Given the description of an element on the screen output the (x, y) to click on. 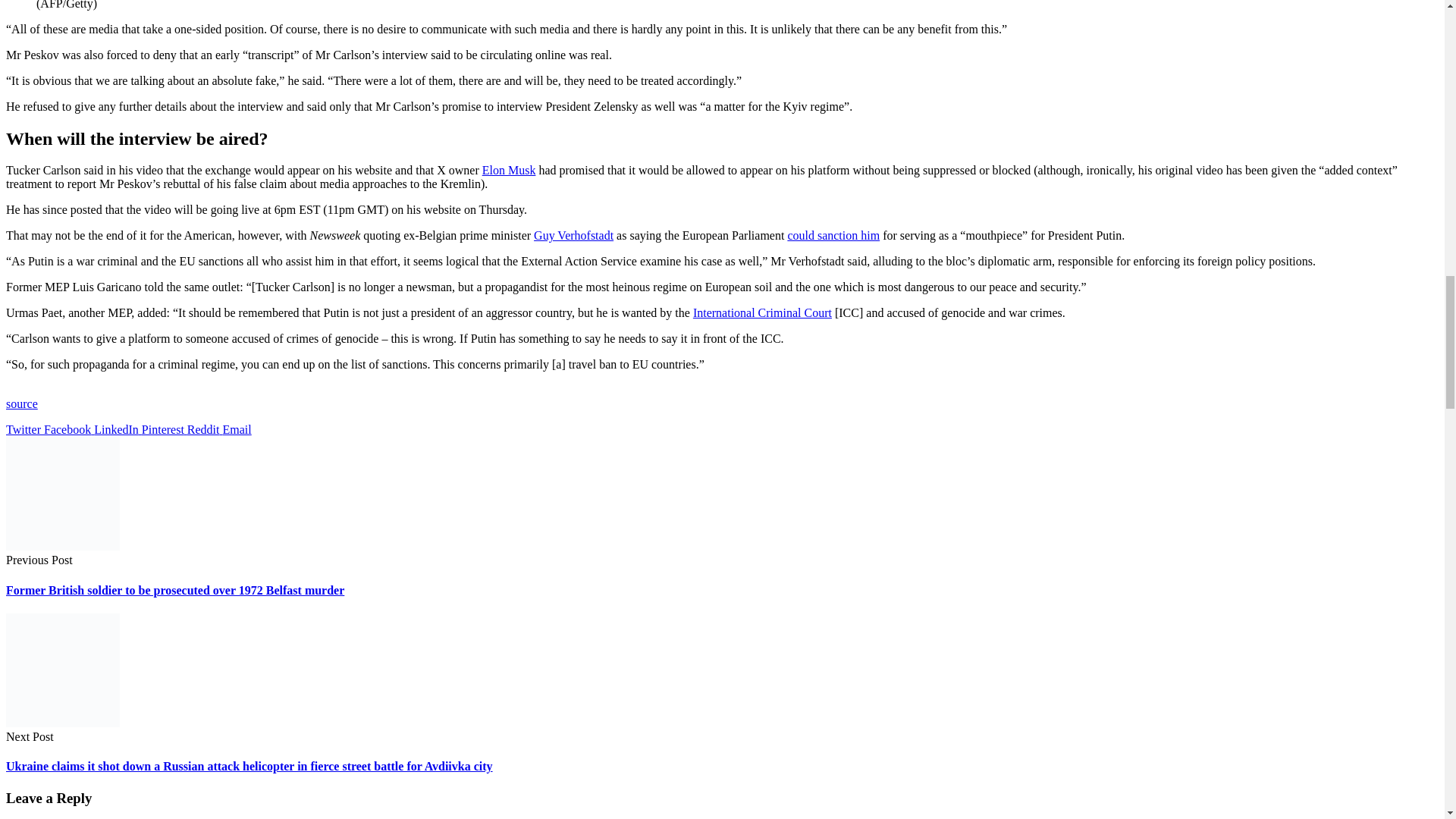
Share on Reddit (204, 429)
Tweet This! (24, 429)
Share on Facebook (68, 429)
Share on LinkedIn (117, 429)
Pin this! (164, 429)
Share on Email (236, 429)
